Given the description of an element on the screen output the (x, y) to click on. 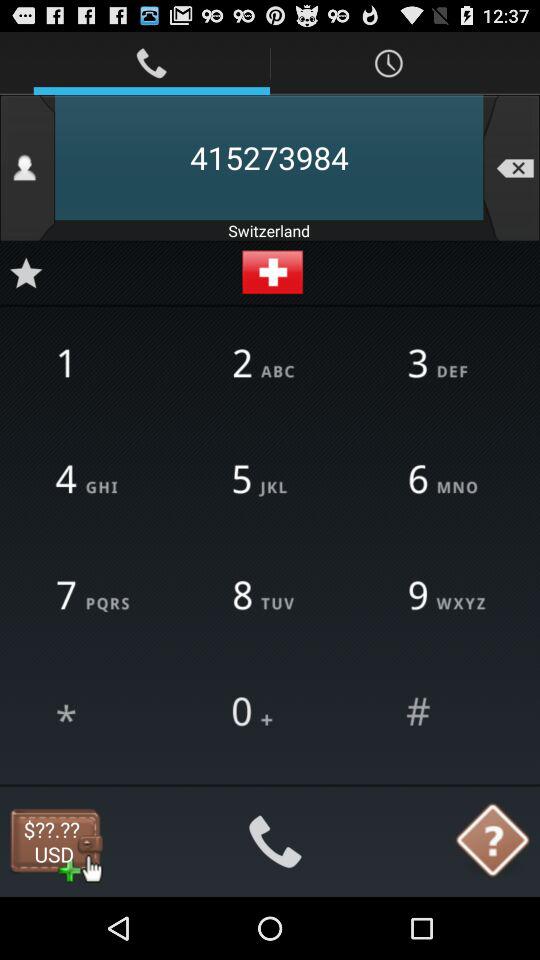
select the button left to the button 9 wxyz (269, 596)
select the number and letters present in third row third column (445, 596)
click on the information icon which is bottom of right corner (493, 841)
go to star logo (25, 272)
select  (445, 712)
enter  under 7 (94, 712)
select on the seventh number (94, 596)
click on 1 on keypad (94, 365)
